Given the description of an element on the screen output the (x, y) to click on. 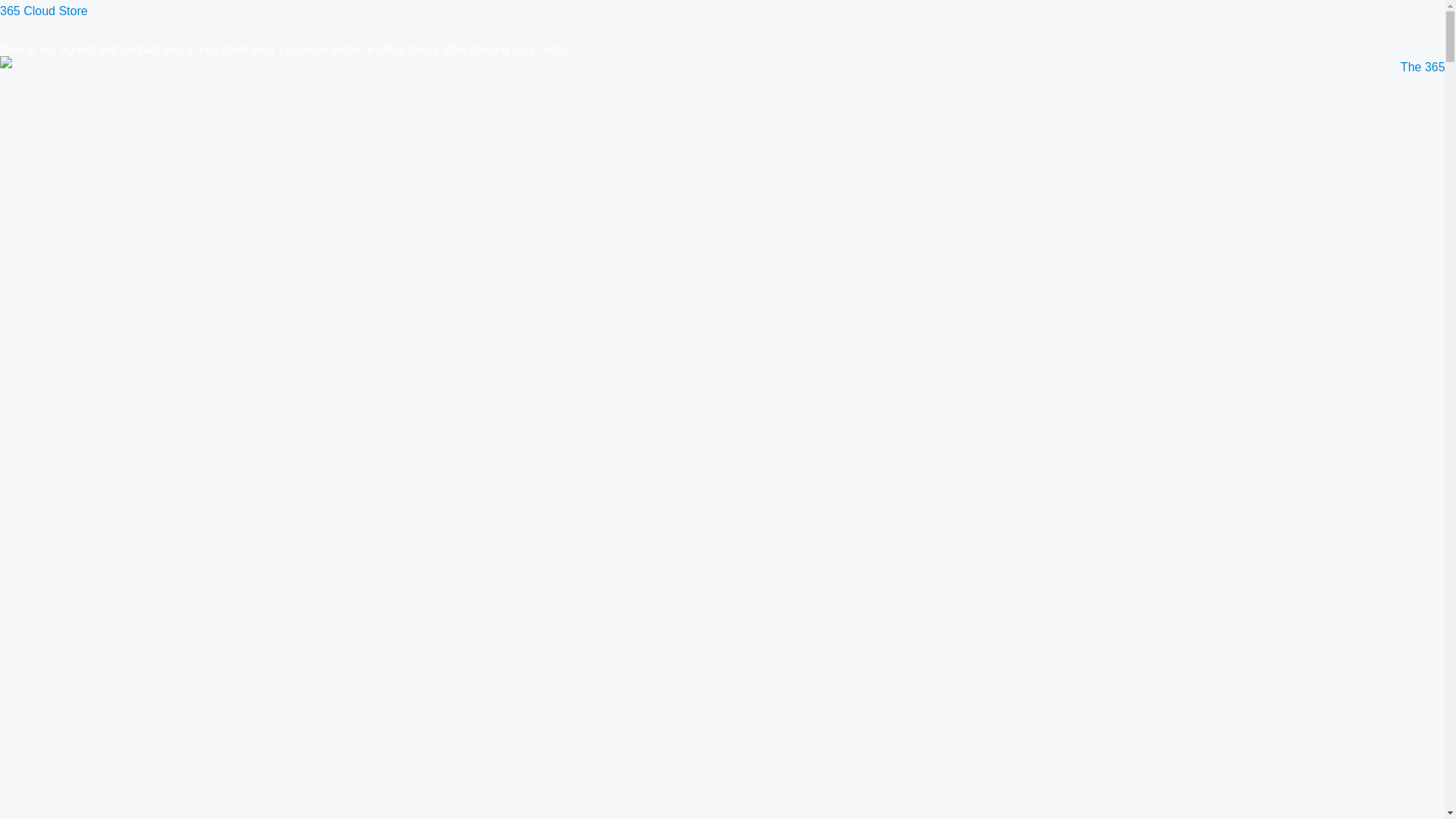
365 Cloud Store Element type: text (43, 10)
